Given the description of an element on the screen output the (x, y) to click on. 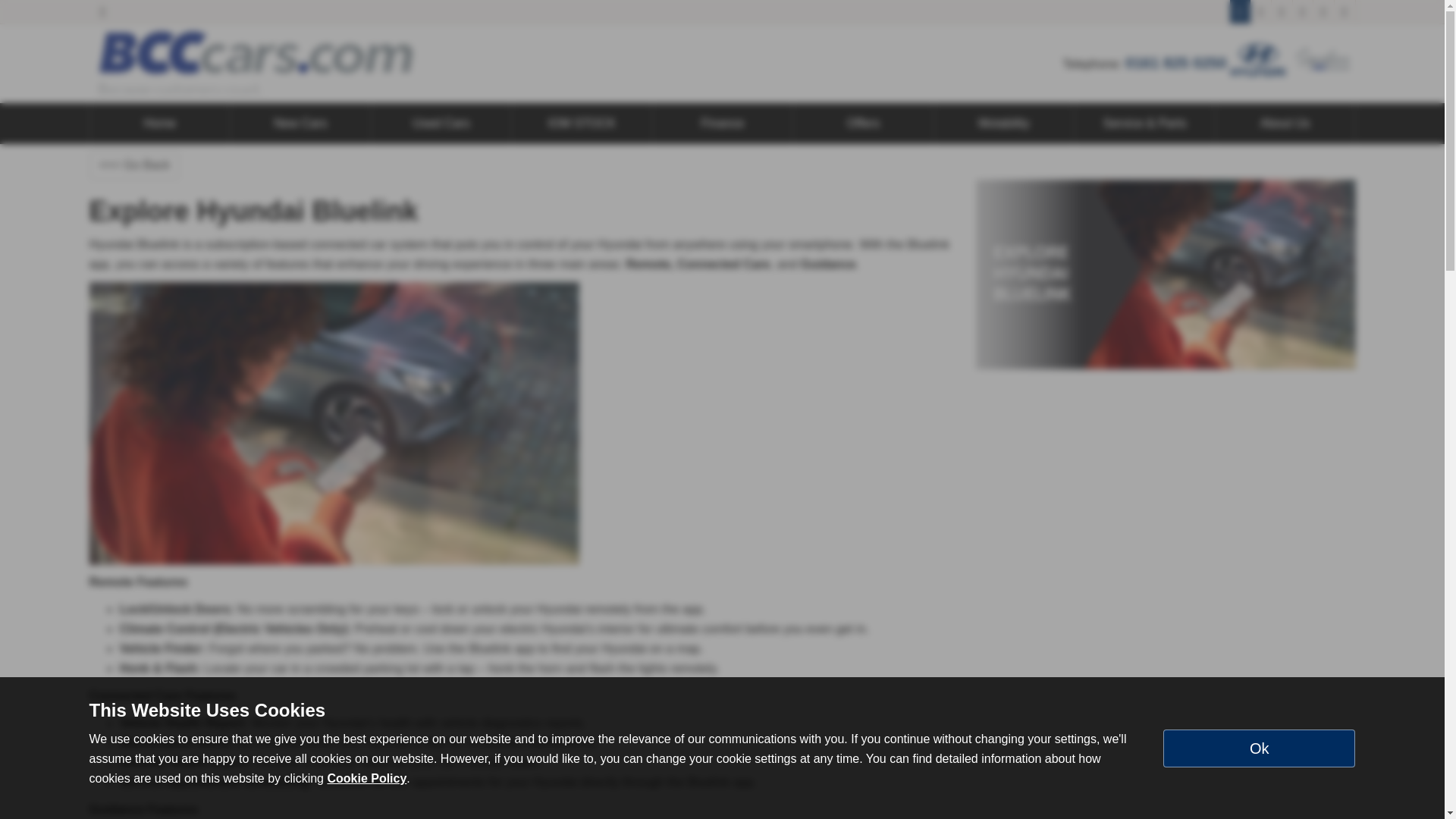
Home (159, 123)
0161 825 0250 (1175, 62)
Motability (1004, 123)
IOM STOCK (582, 123)
Finance (722, 123)
Used Cars (441, 123)
